Given the description of an element on the screen output the (x, y) to click on. 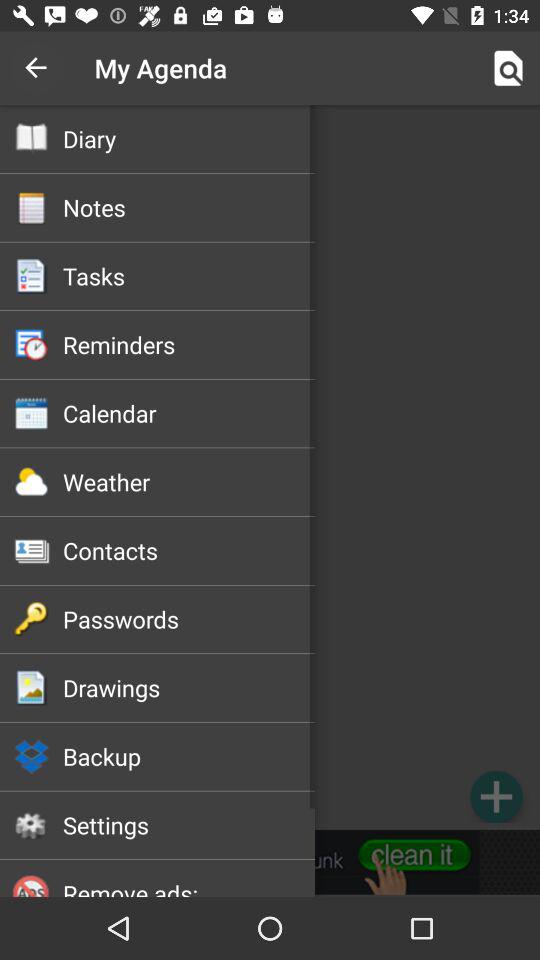
flip until drawings icon (188, 687)
